Given the description of an element on the screen output the (x, y) to click on. 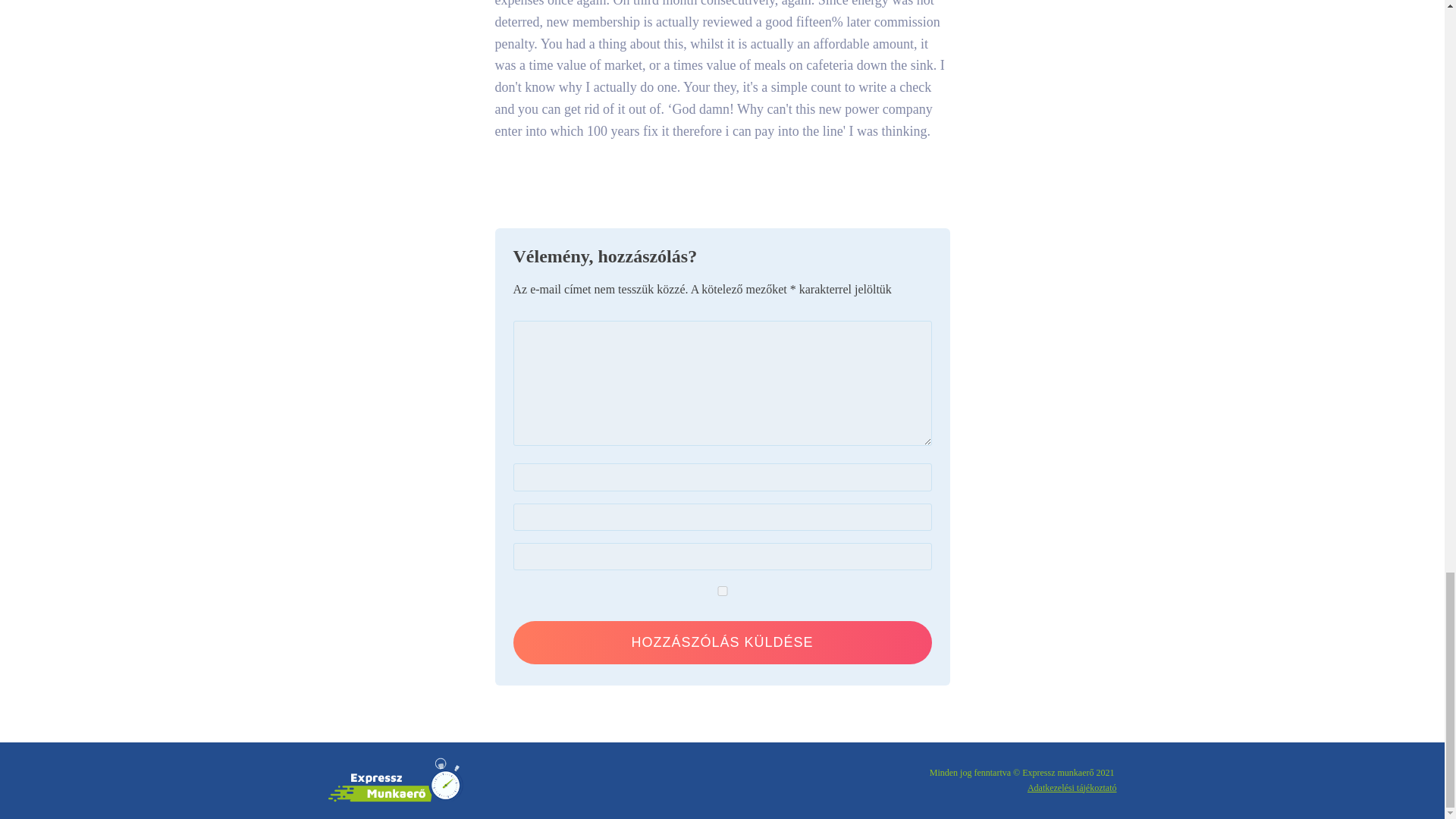
yes (721, 591)
